Given the description of an element on the screen output the (x, y) to click on. 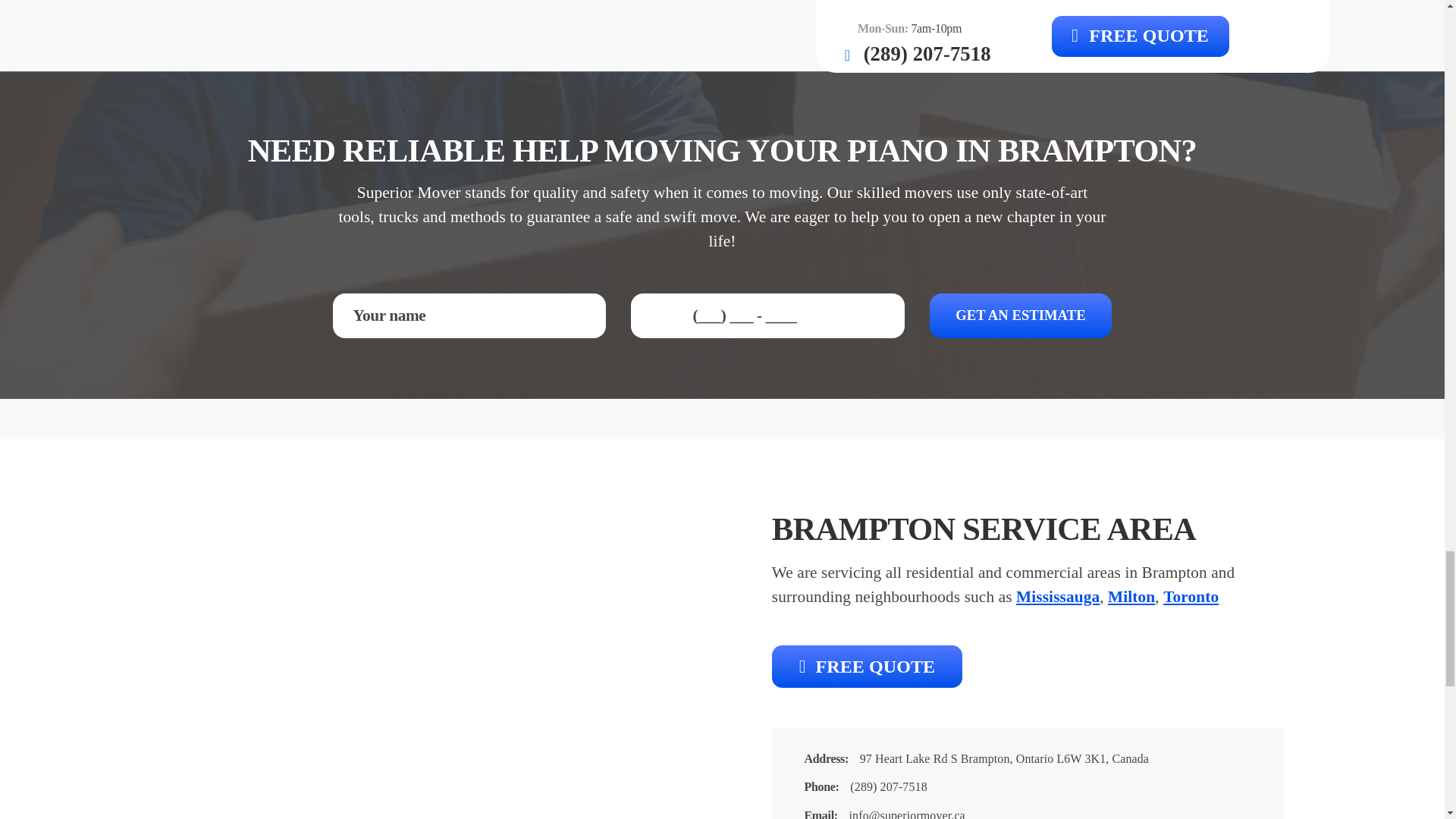
Mississauga (1057, 597)
Milton (1131, 597)
Toronto (1190, 597)
GET AN ESTIMATE (1021, 315)
